Given the description of an element on the screen output the (x, y) to click on. 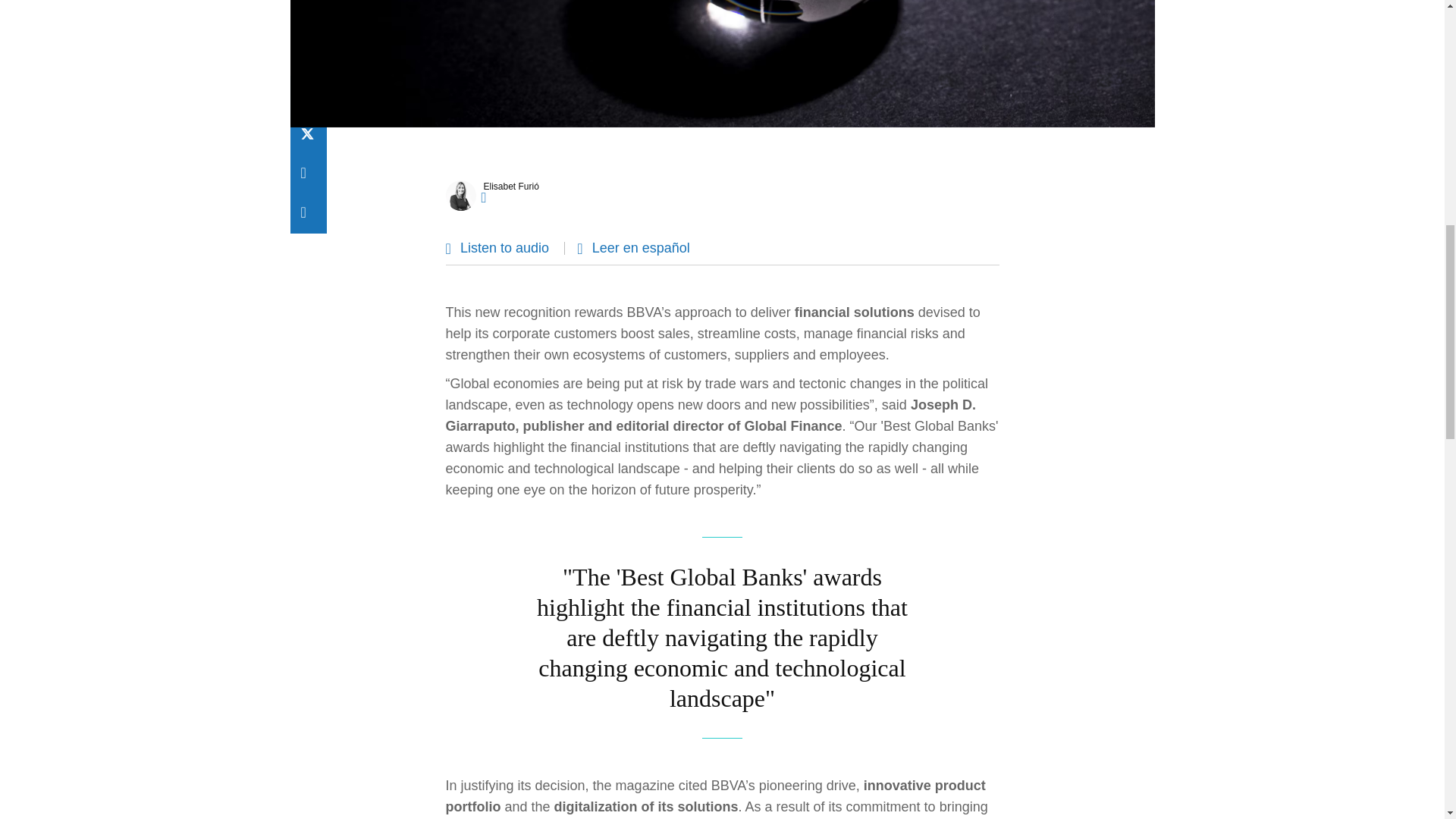
Listen this page using ReadSpeaker (505, 247)
